Given the description of an element on the screen output the (x, y) to click on. 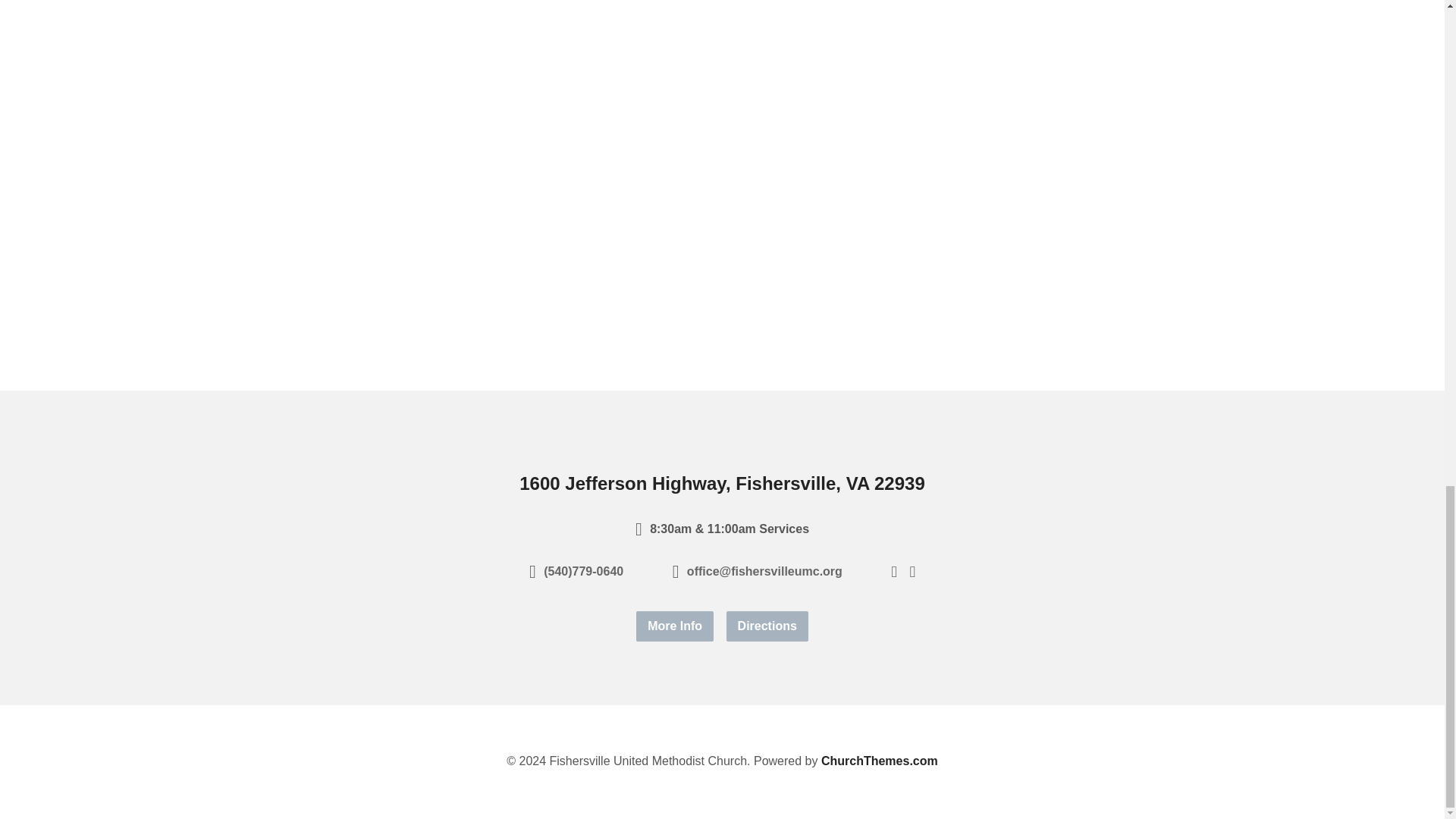
YouTube (911, 570)
Facebook (893, 570)
